Given the description of an element on the screen output the (x, y) to click on. 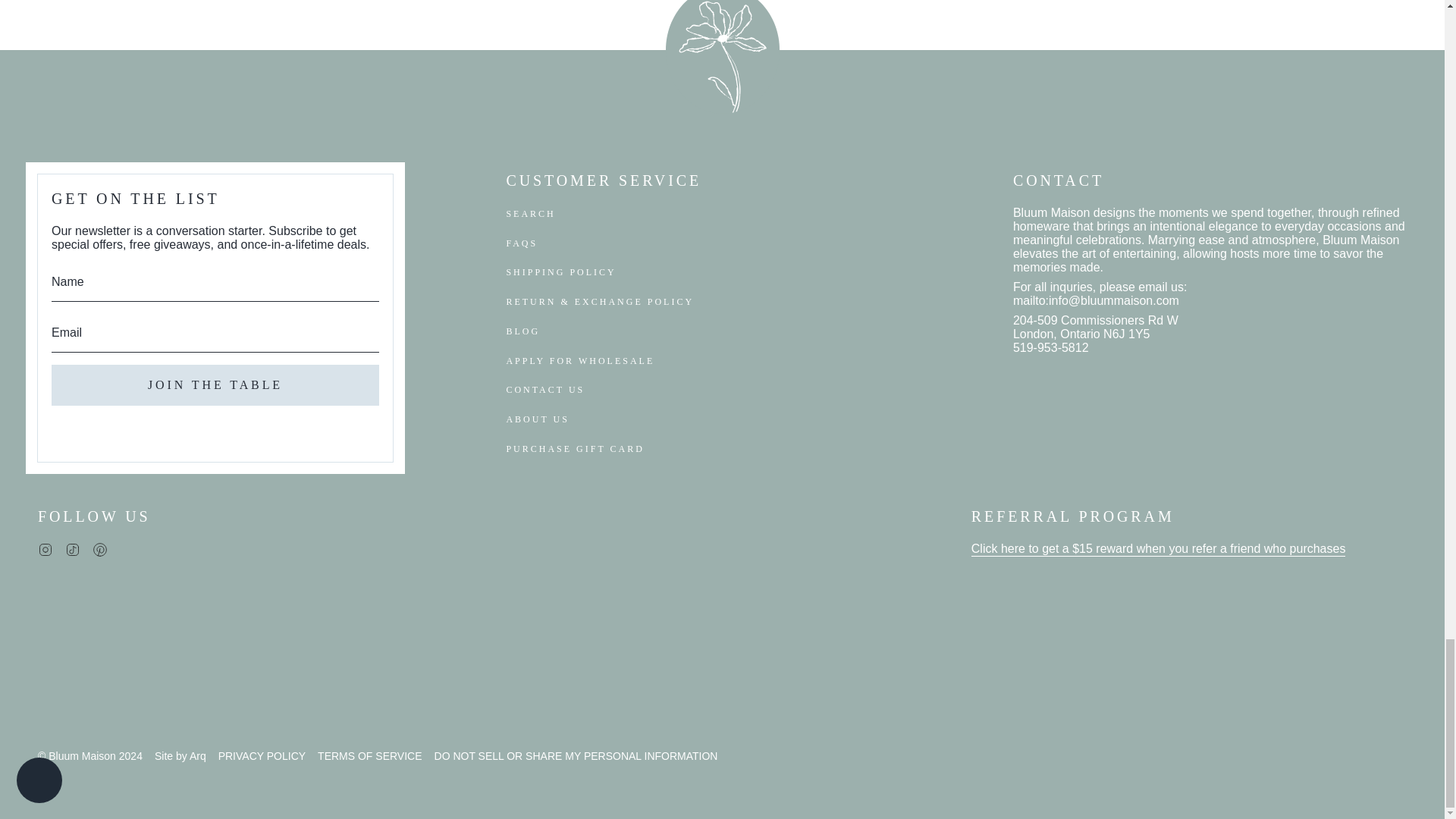
Bluum Maison on Instagram (44, 548)
Referral Program (1158, 550)
Bluum Maison on Pinterest (100, 548)
Bluum Maison on TikTok (72, 548)
